Given the description of an element on the screen output the (x, y) to click on. 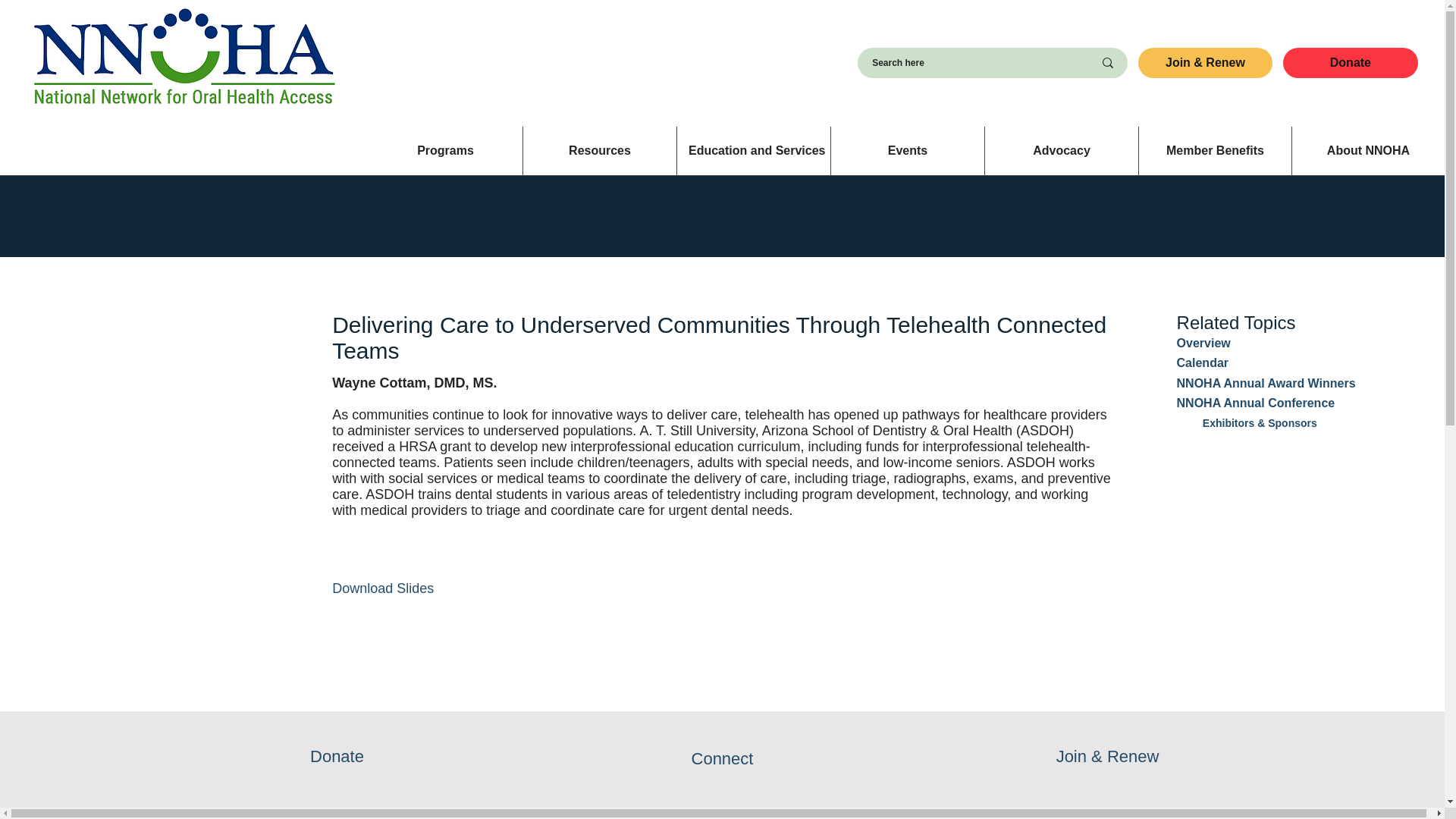
Education and Services (753, 150)
Donate (1350, 62)
Resources (599, 150)
Log In (44, 14)
Programs (445, 150)
Advocacy (1061, 150)
Events (906, 150)
